Given the description of an element on the screen output the (x, y) to click on. 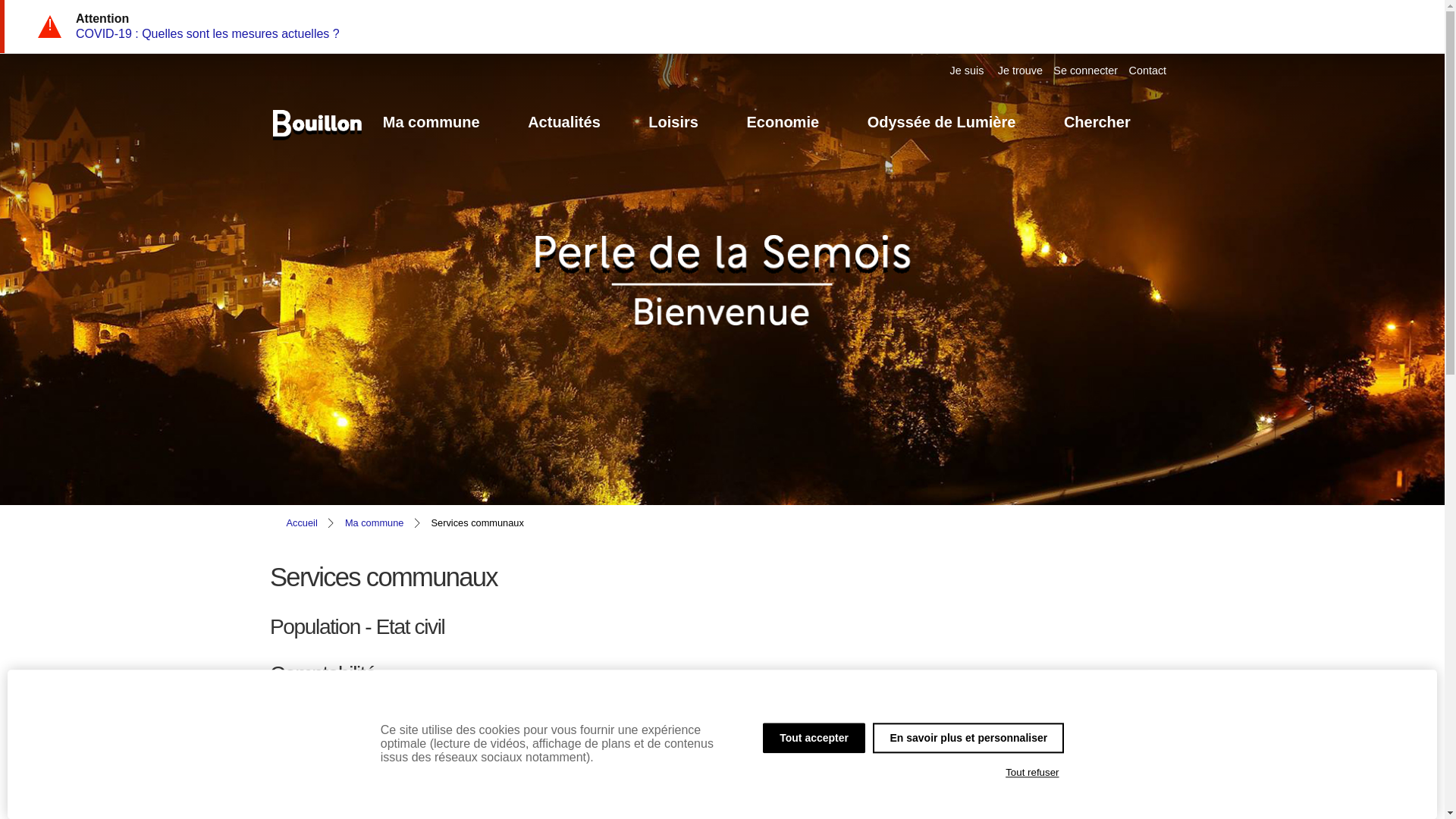
Tout accepter Element type: text (813, 737)
Loisirs Element type: text (673, 122)
Aller au contenu. Element type: text (1200, 106)
Se connecter Element type: text (1085, 70)
Accueil Element type: text (301, 522)
Bouillon - la Commune Element type: hover (315, 122)
Je trouve Element type: text (1019, 70)
Contact Element type: text (1148, 70)
Ma commune Element type: text (374, 522)
Je suis Element type: text (967, 70)
Population - Etat civil Element type: text (721, 627)
Travaux Element type: text (721, 767)
En savoir plus et personnaliser Element type: text (967, 737)
Bouillon - la Commune Element type: hover (315, 150)
Economie Element type: text (782, 122)
Tout refuser Element type: text (1032, 772)
Ma commune Element type: text (431, 122)
Chercher Element type: text (1096, 122)
COVID-19 : Quelles sont les mesures actuelles ? Element type: text (207, 33)
